Given the description of an element on the screen output the (x, y) to click on. 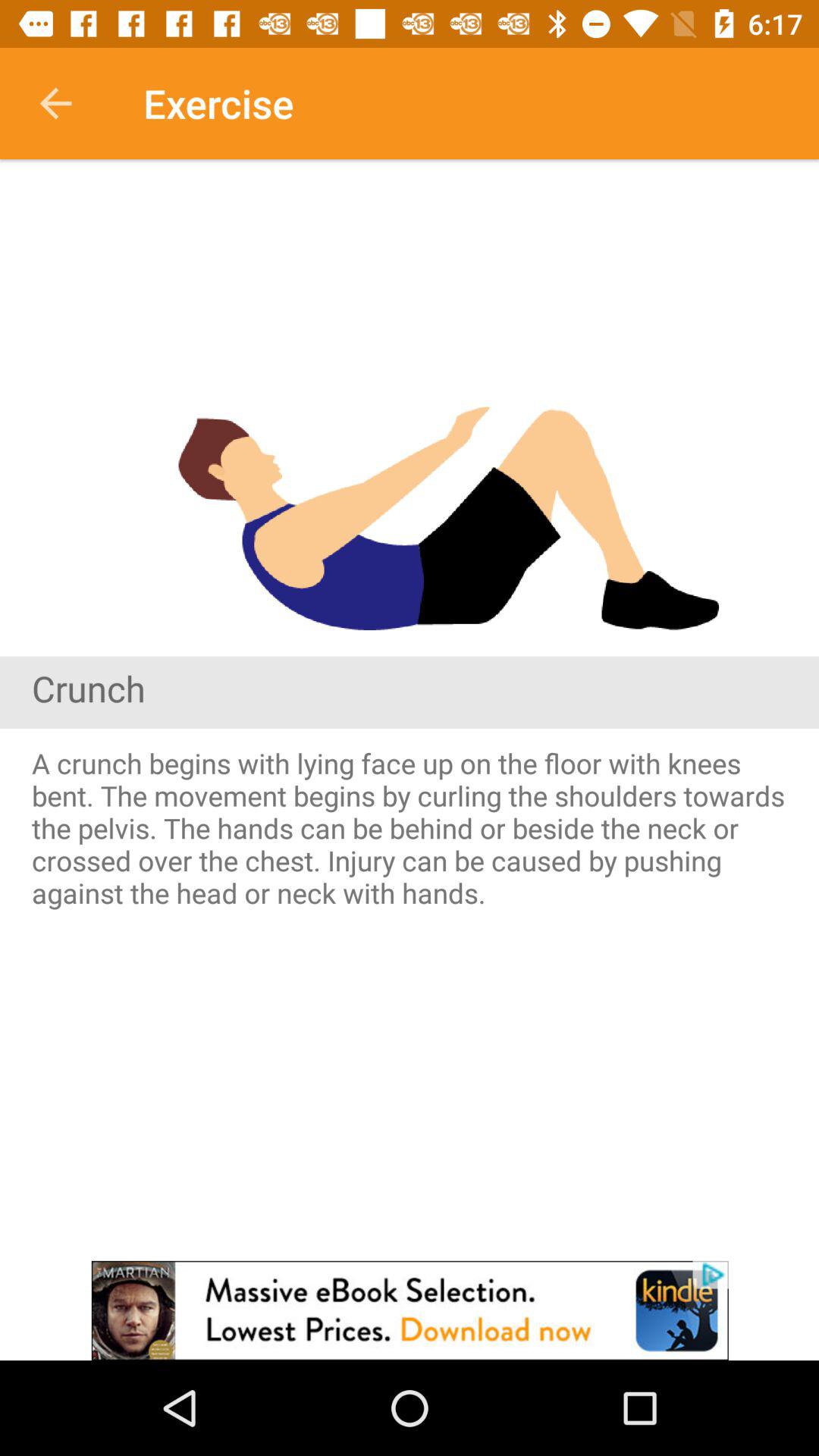
open advertisement (409, 1310)
